Given the description of an element on the screen output the (x, y) to click on. 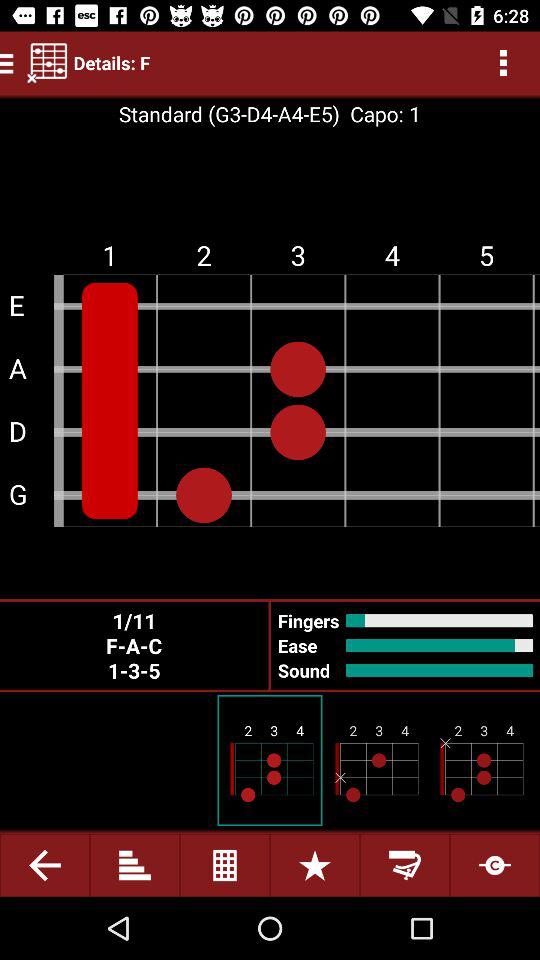
turn off item to the left of details: f (47, 62)
